Given the description of an element on the screen output the (x, y) to click on. 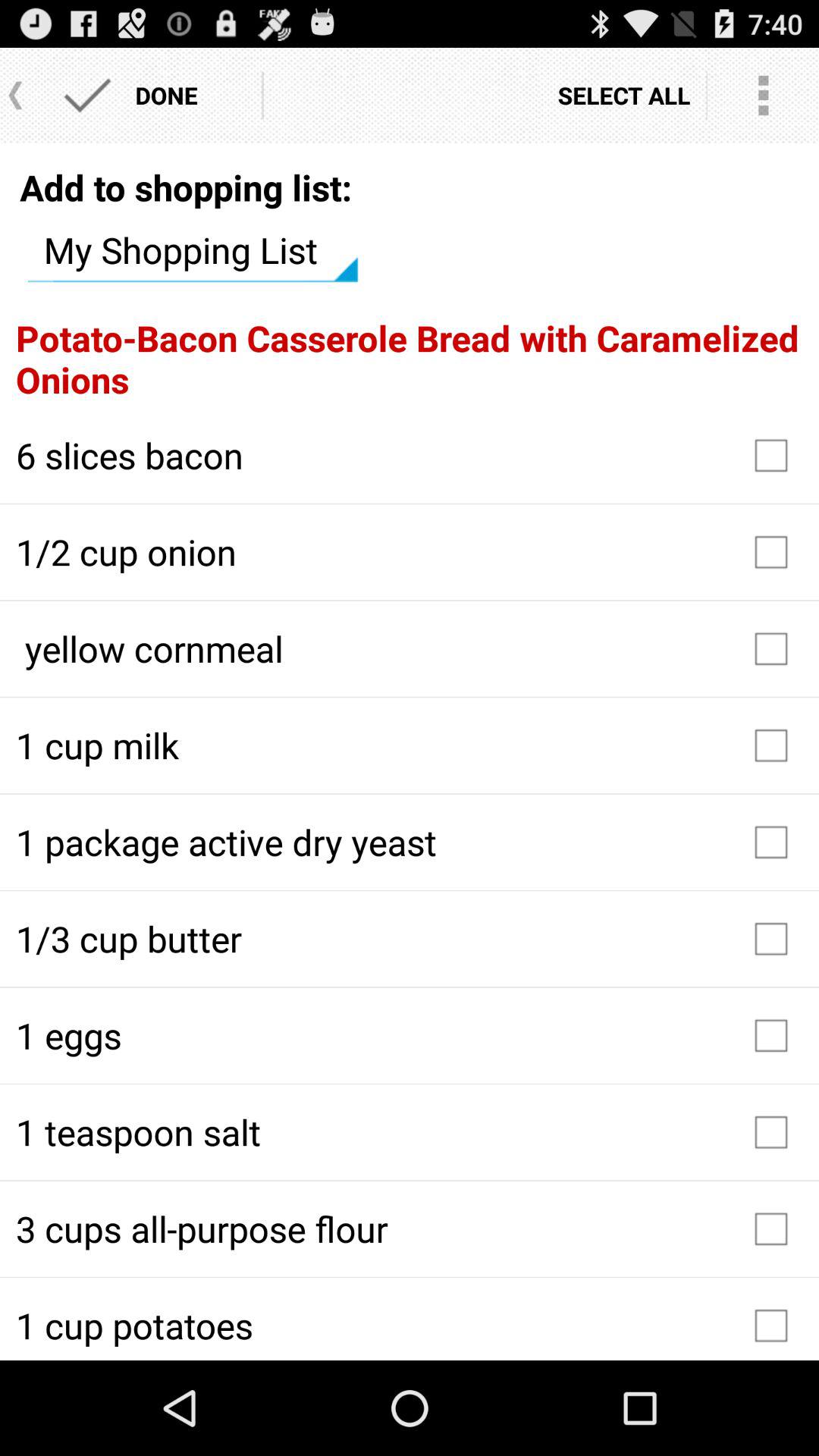
turn off the app below the potato bacon casserole icon (409, 455)
